Given the description of an element on the screen output the (x, y) to click on. 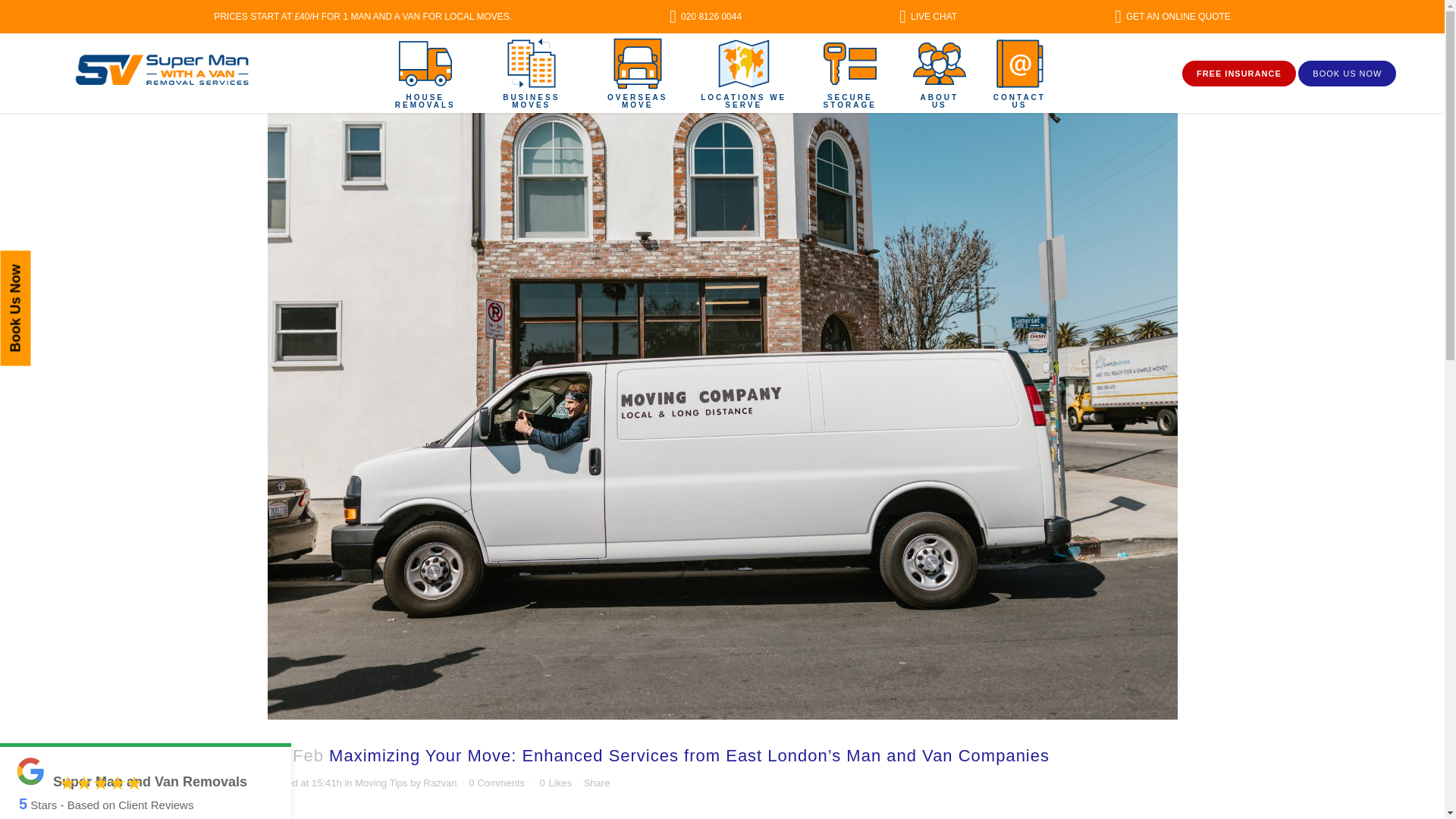
Like this (555, 783)
LOCATIONS WE SERVE (743, 72)
LIVE CHAT (927, 16)
GET AN ONLINE QUOTE (1172, 16)
OVERSEAS MOVE (637, 72)
HOUSE REMOVALS (425, 72)
BUSINESS MOVES (531, 72)
020 8126 0044 (705, 16)
